Given the description of an element on the screen output the (x, y) to click on. 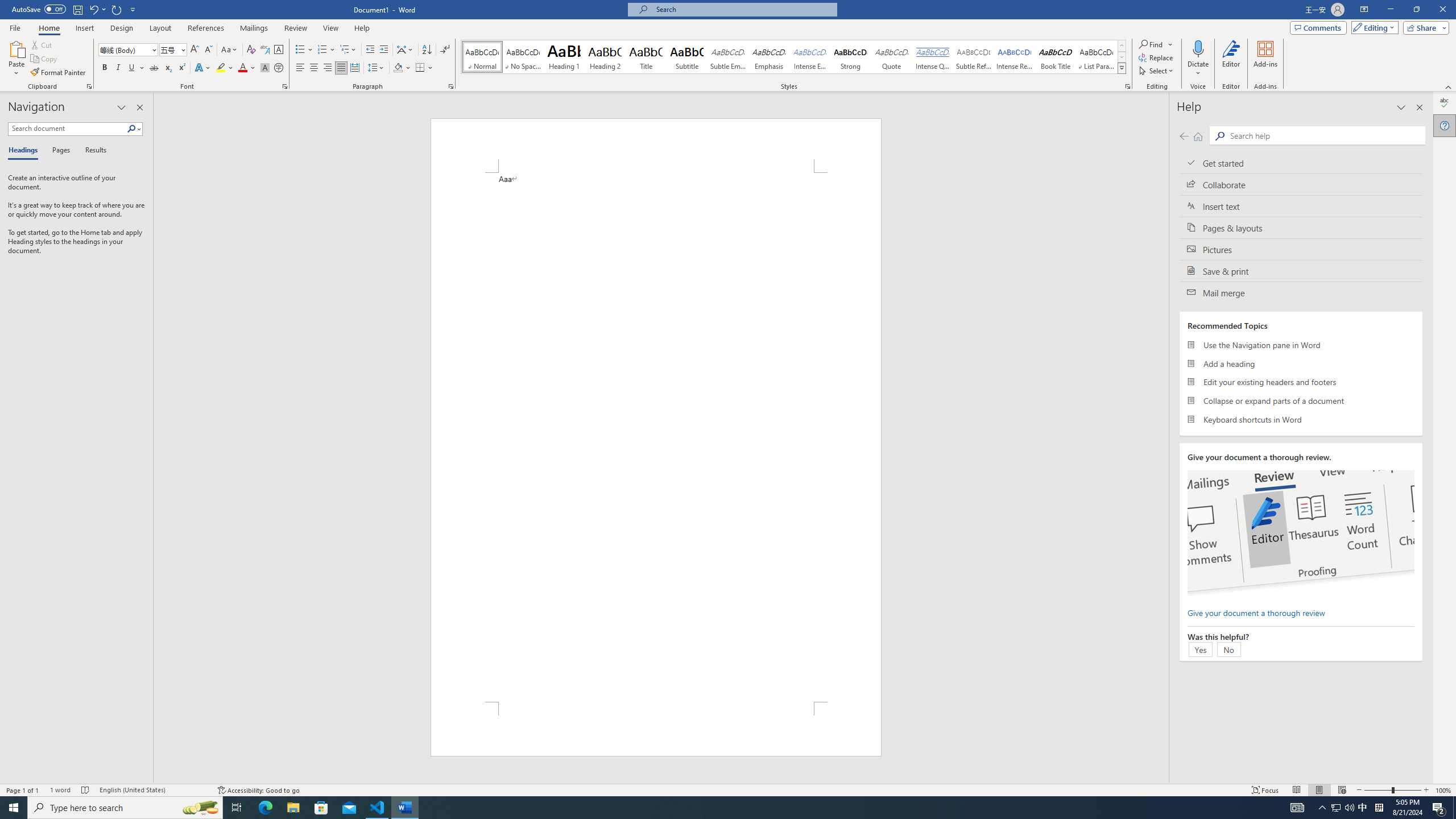
Font Size (172, 49)
Use the Navigation pane in Word (1300, 344)
Bullets (304, 49)
Repeat Typing (117, 9)
Multilevel List (347, 49)
Search document (66, 128)
Decrease Indent (370, 49)
Editor (1444, 102)
Book Title (1055, 56)
Microsoft search (742, 9)
Class: MsoCommandBar (728, 789)
Shading RGB(0, 0, 0) (397, 67)
Insert text (1300, 206)
Enclose Characters... (278, 67)
